Given the description of an element on the screen output the (x, y) to click on. 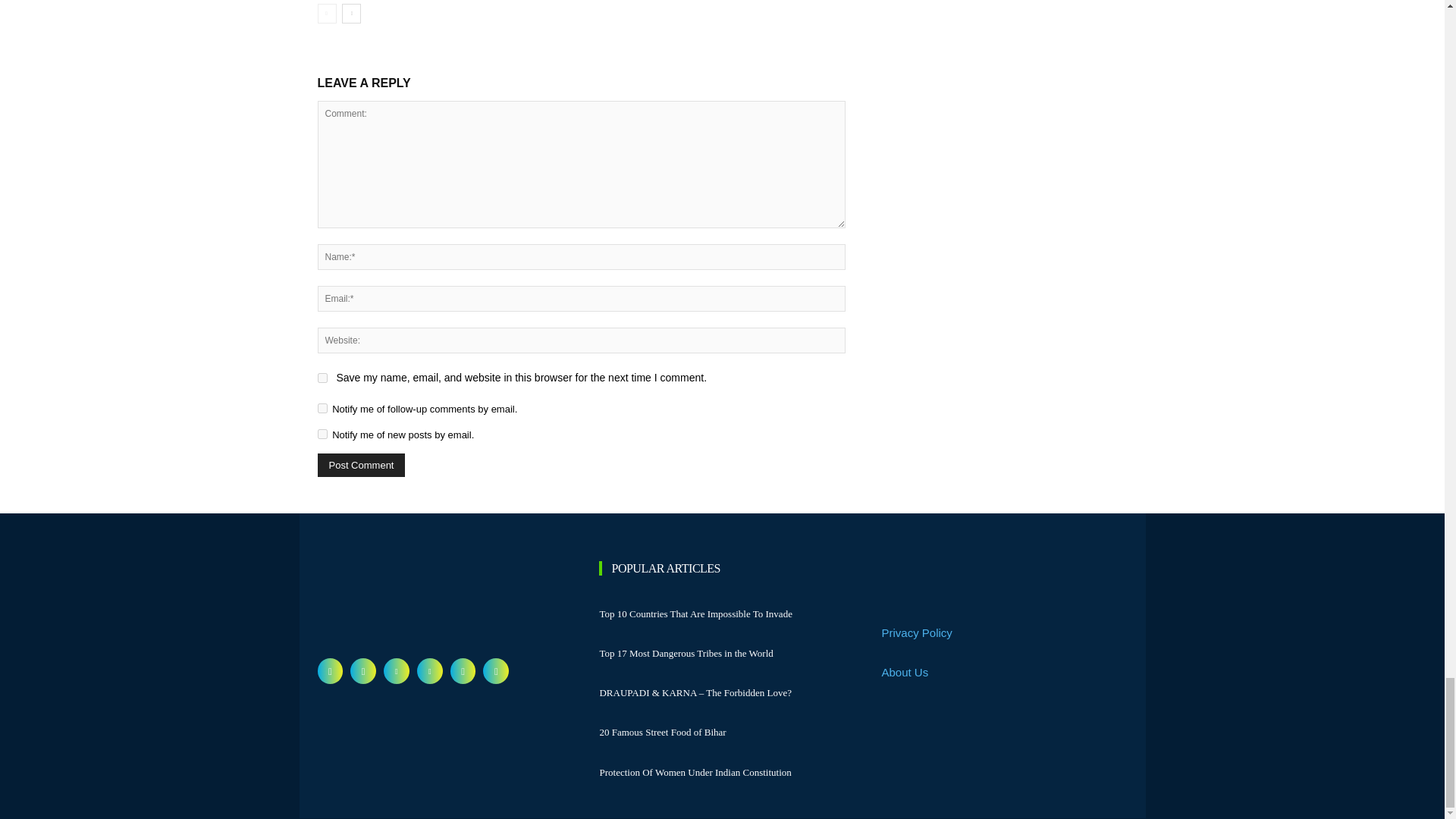
subscribe (321, 408)
Post Comment (360, 464)
subscribe (321, 433)
yes (321, 378)
